Given the description of an element on the screen output the (x, y) to click on. 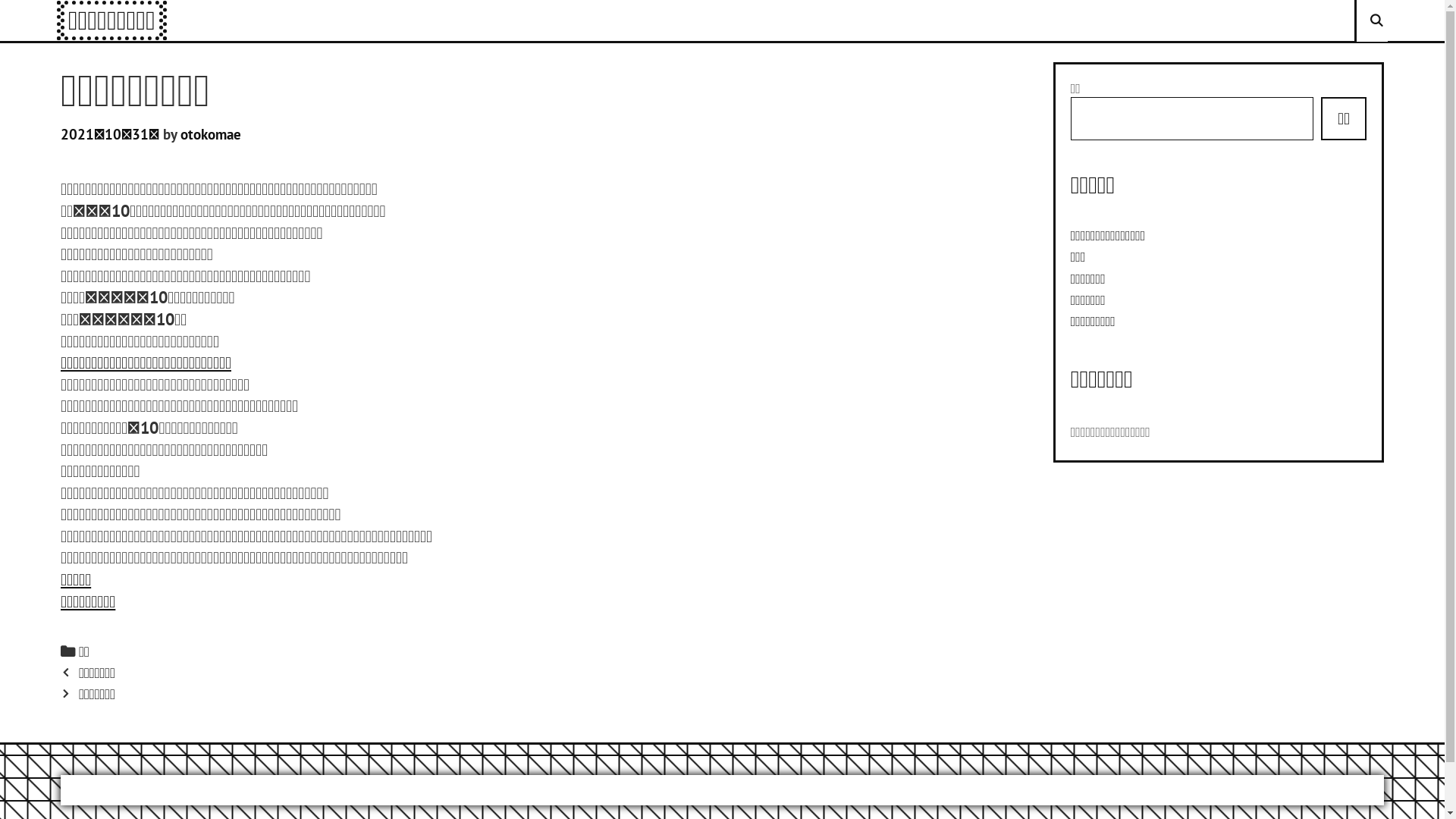
Search Element type: text (15, 20)
SEARCH Element type: text (1375, 20)
otokomae Element type: text (210, 134)
